Given the description of an element on the screen output the (x, y) to click on. 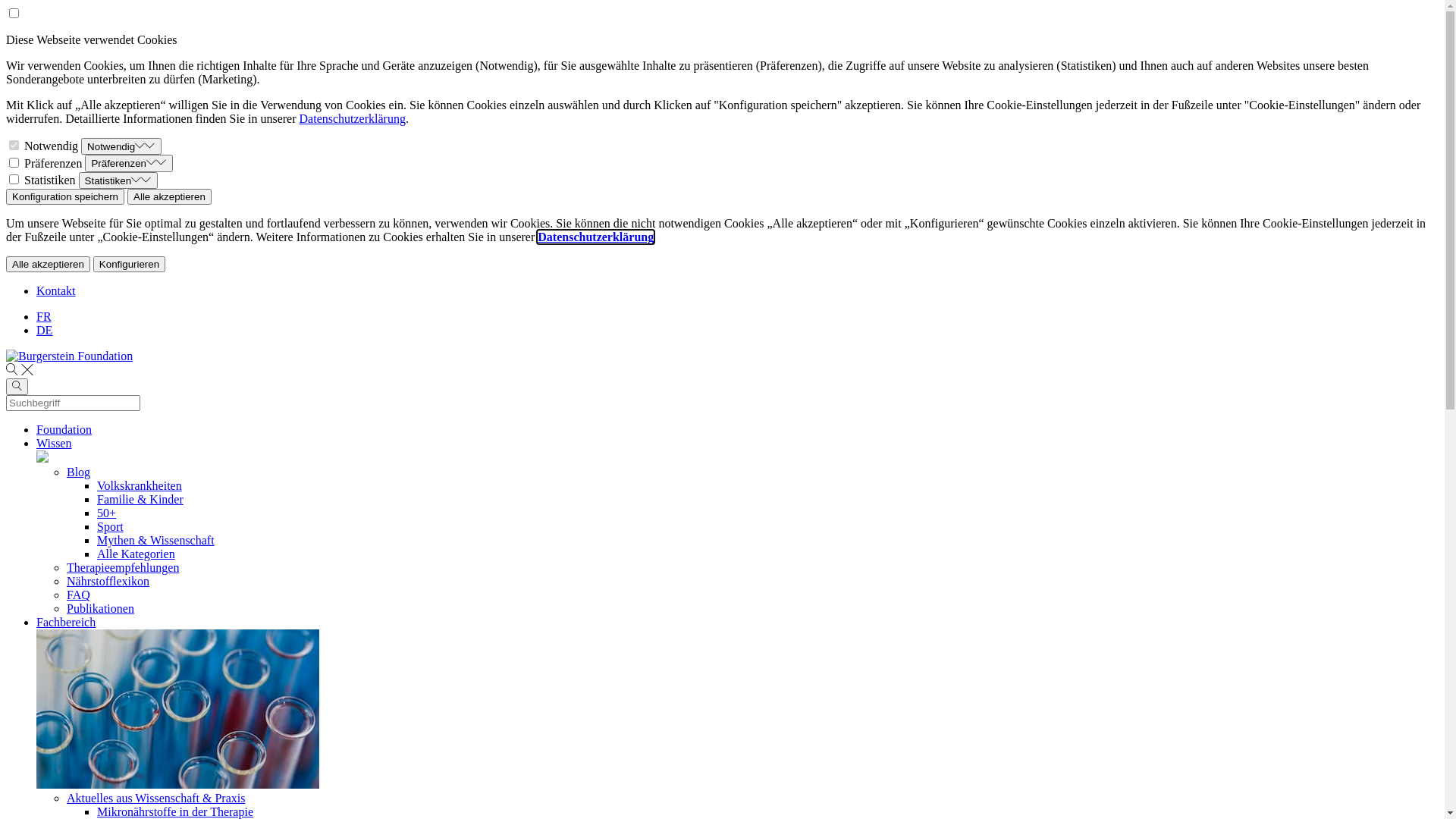
Notwendig Element type: text (121, 146)
Aktuelles aus Wissenschaft & Praxis Element type: text (155, 797)
FR Element type: text (43, 316)
Foundation Element type: text (737, 429)
Mythen & Wissenschaft Element type: text (155, 539)
Blog Element type: text (78, 471)
FAQ Element type: text (78, 594)
Kontakt Element type: text (55, 290)
Publikationen Element type: text (100, 608)
50+ Element type: text (106, 512)
Alle akzeptieren Element type: text (48, 264)
DE Element type: text (44, 329)
Konfigurieren Element type: text (129, 264)
Alle Kategorien Element type: text (136, 553)
Sport Element type: text (110, 526)
Familie & Kinder Element type: text (140, 498)
Wissen Element type: text (737, 443)
Therapieempfehlungen Element type: text (122, 567)
Volkskrankheiten Element type: text (139, 485)
Konfiguration speichern Element type: text (65, 196)
Fachbereich Element type: text (737, 622)
Statistiken Element type: text (117, 180)
Alle akzeptieren Element type: text (169, 196)
